Given the description of an element on the screen output the (x, y) to click on. 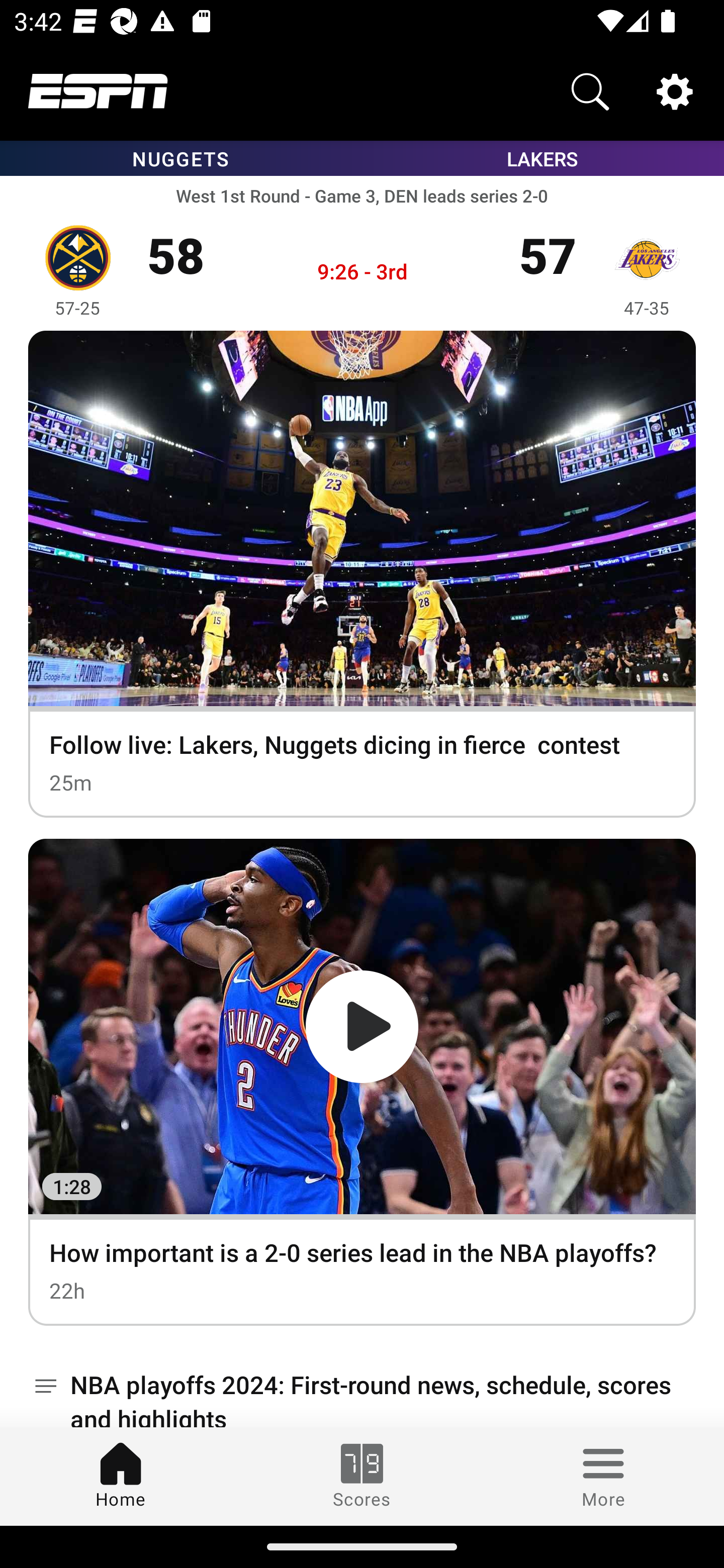
Search (590, 90)
Settings (674, 90)
Scores (361, 1475)
More (603, 1475)
